Given the description of an element on the screen output the (x, y) to click on. 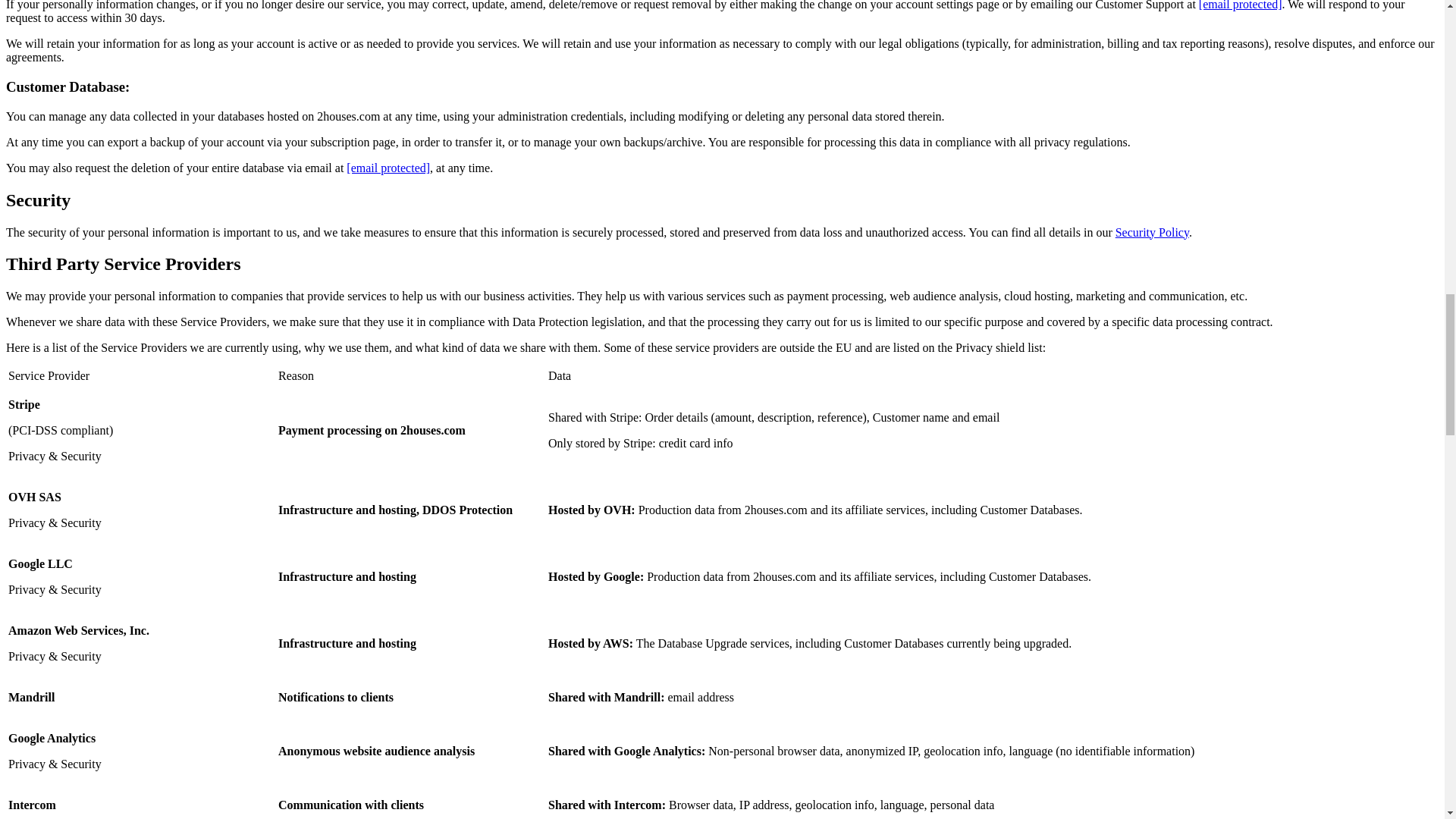
Security Policy (1152, 232)
